Given the description of an element on the screen output the (x, y) to click on. 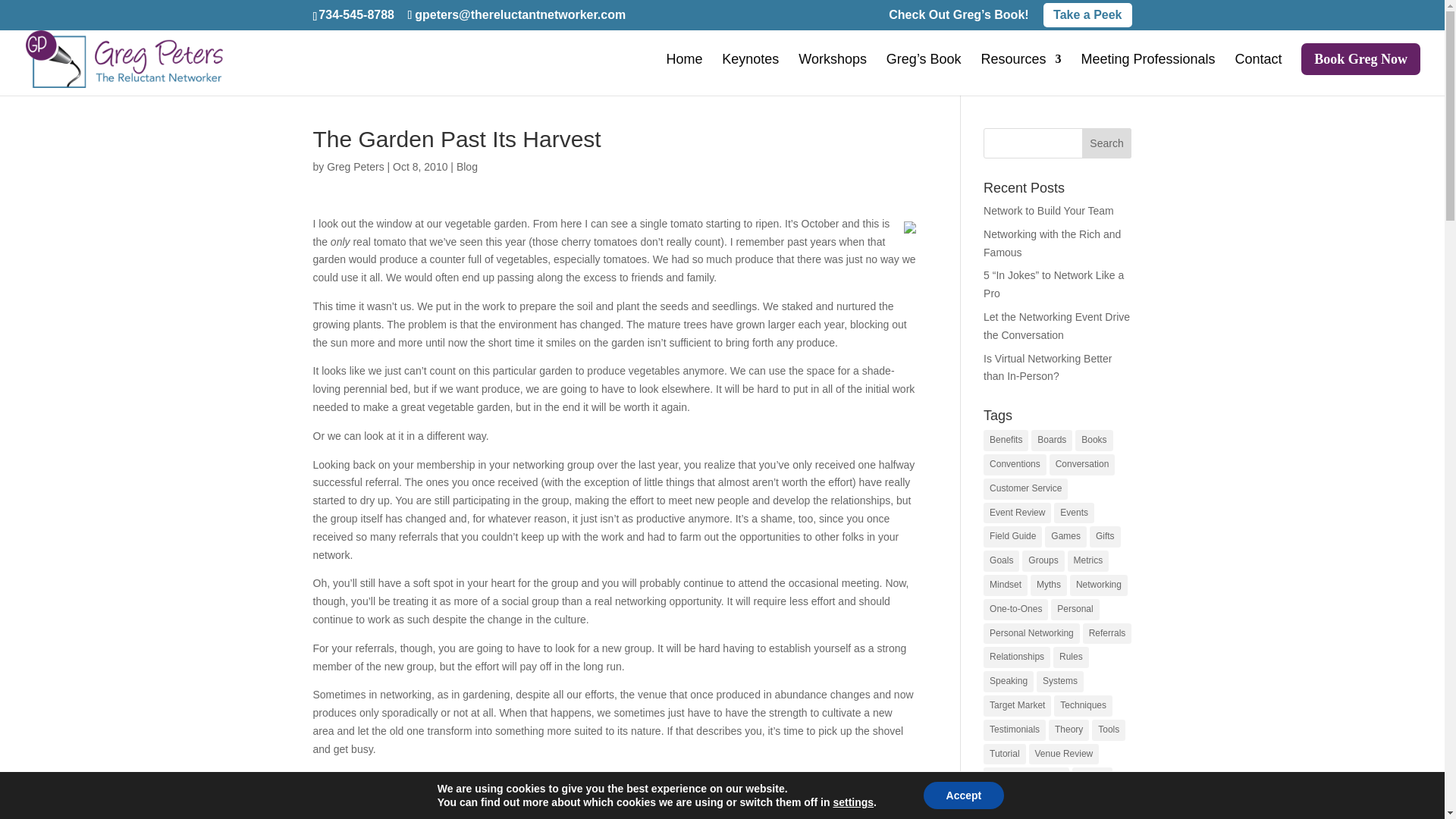
Resources (1020, 74)
Posts by Greg Peters (355, 166)
Take a Peek (1087, 15)
Book Greg Now (1361, 69)
Home (683, 74)
Keynotes (750, 74)
Contact (1257, 74)
Search (1106, 142)
Is Virtual Networking Better than In-Person? (1048, 367)
Blog (467, 166)
Network to Build Your Team (1048, 210)
Networking with the Rich and Famous (1052, 243)
Let the Networking Event Drive the Conversation (1056, 326)
Greg Peters (355, 166)
Meeting Professionals (1147, 74)
